Given the description of an element on the screen output the (x, y) to click on. 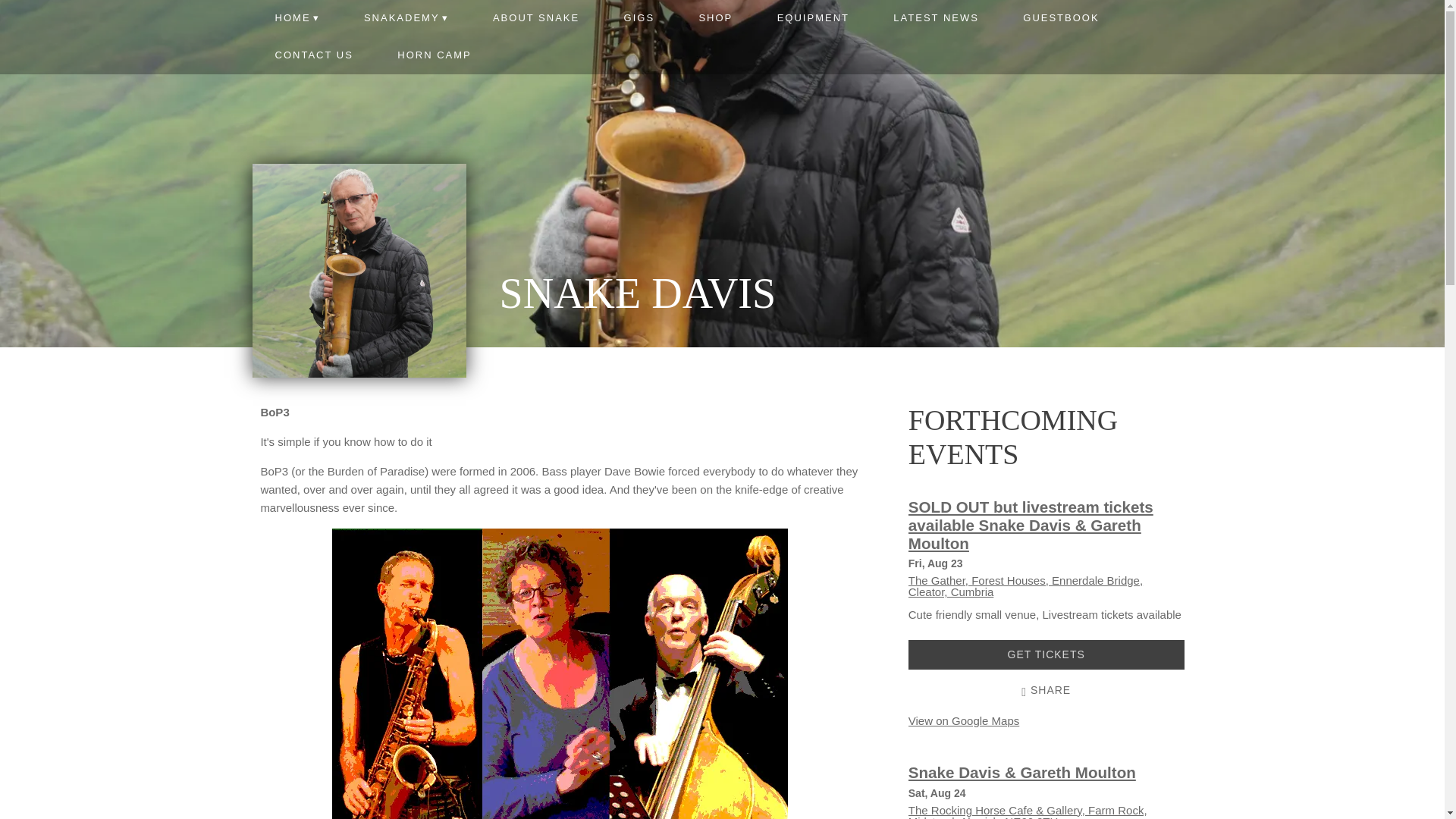
LATEST NEWS (935, 18)
GET TICKETS (1046, 654)
SNAKE DAVIS (637, 301)
EQUIPMENT (812, 18)
CONTACT US (313, 55)
HORN CAMP (434, 55)
HOME (295, 18)
View on Google Maps (1025, 586)
Visit venue website (1027, 811)
GUESTBOOK (1061, 18)
